Given the description of an element on the screen output the (x, y) to click on. 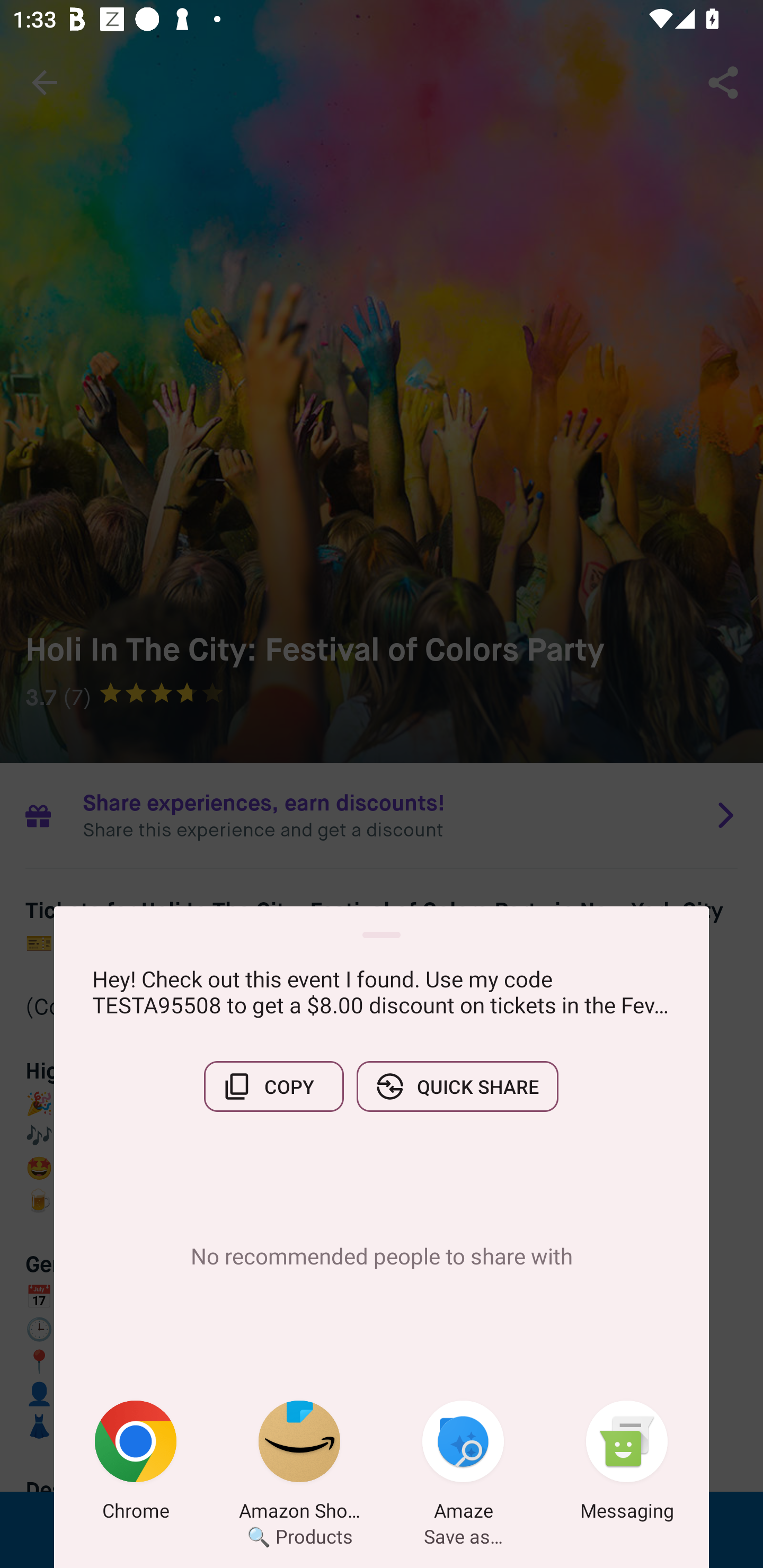
COPY (273, 1086)
QUICK SHARE (457, 1086)
Chrome (135, 1463)
Amazon Shopping 🔍 Products (299, 1463)
Amaze Save as… (463, 1463)
Messaging (626, 1463)
